Given the description of an element on the screen output the (x, y) to click on. 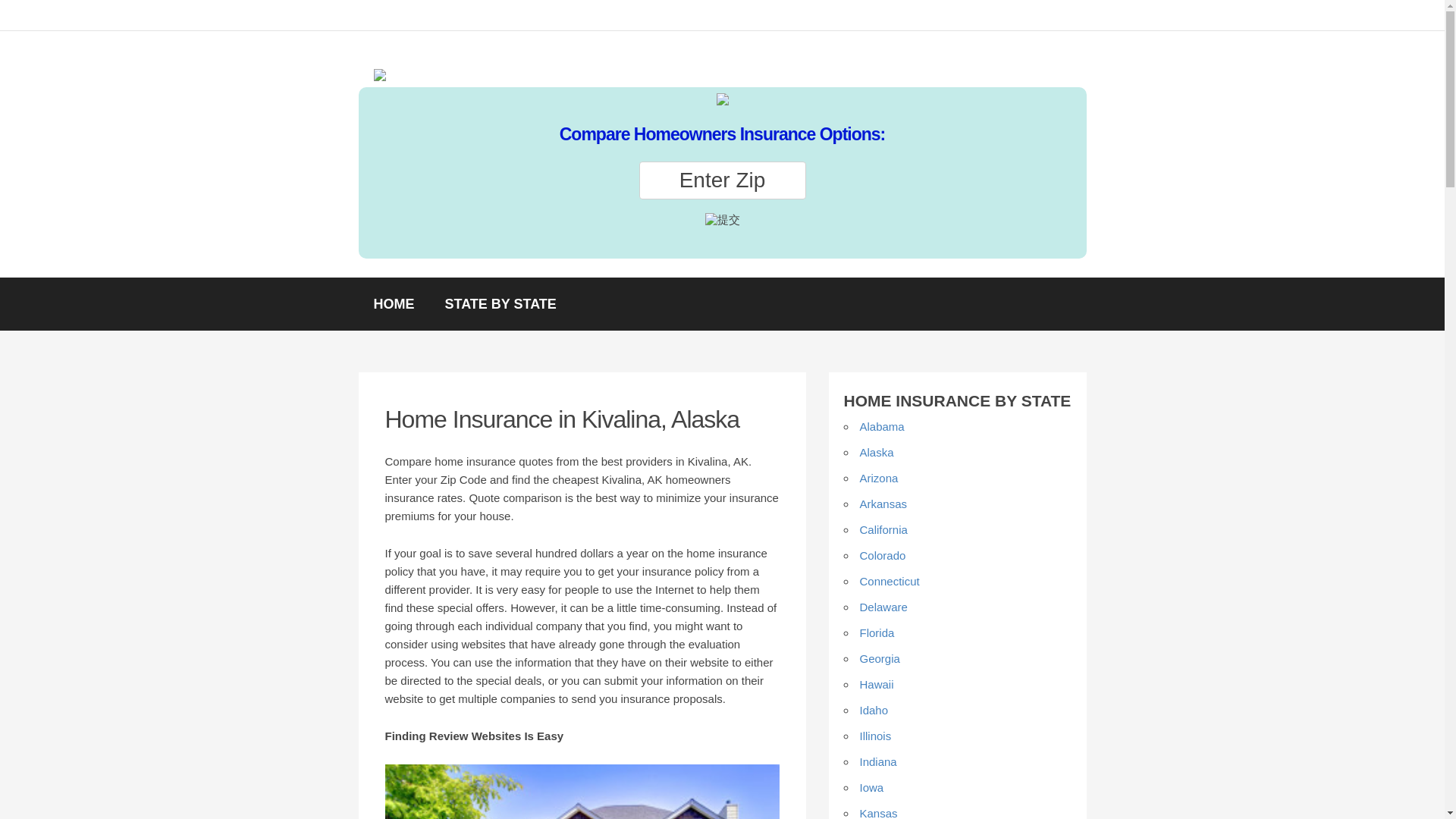
Alabama (882, 426)
Idaho (874, 709)
Arizona (879, 477)
California (883, 529)
Florida (877, 632)
Connecticut (890, 581)
Enter Zip (722, 180)
Delaware (883, 606)
Arkansas (883, 503)
Kansas (879, 812)
